Given the description of an element on the screen output the (x, y) to click on. 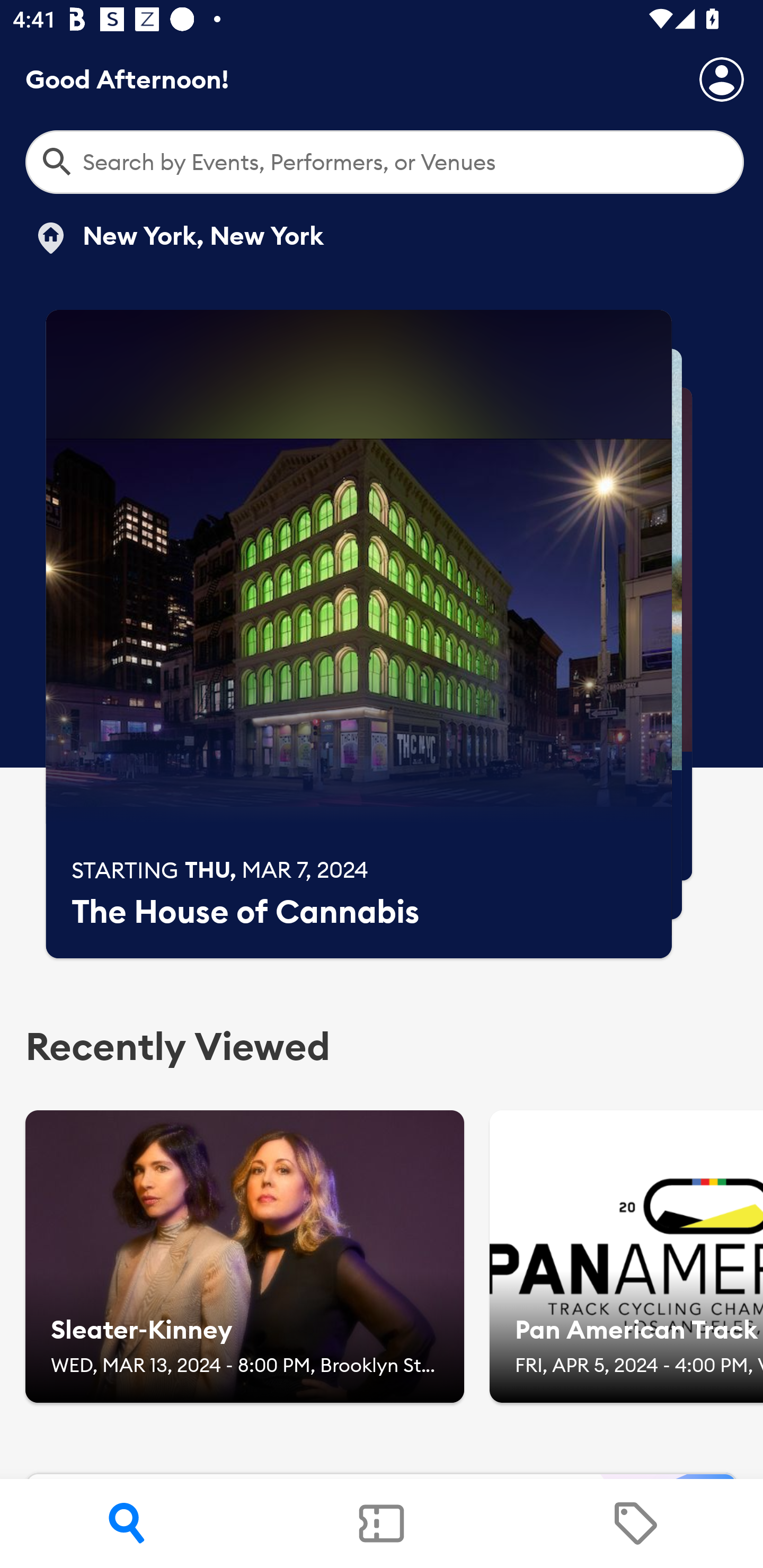
UserIcon (721, 78)
Search by Events, Performers, or Venues (384, 161)
New York, New York (177, 237)
STARTING THU, MAR 7, 2024 The House of Cannabis (358, 634)
Menu Item: Tickets (381, 1523)
Menu Item: Resale (635, 1523)
